Given the description of an element on the screen output the (x, y) to click on. 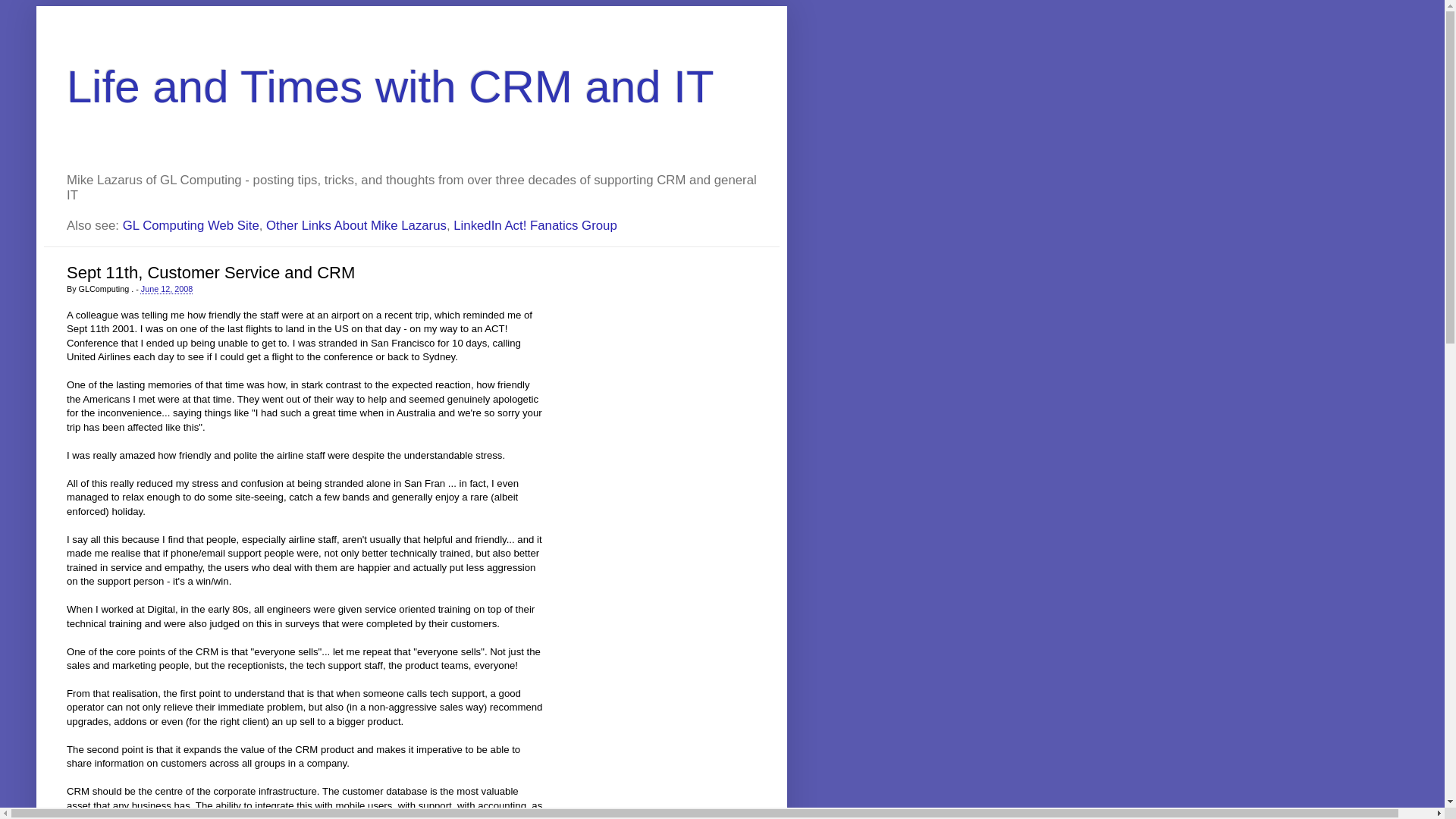
GL Computing Web Site Element type: text (190, 225)
June 12, 2008 Element type: text (166, 288)
Other Links About Mike Lazarus Element type: text (356, 225)
LinkedIn Act! Fanatics Group Element type: text (534, 225)
Life and Times with CRM and IT Element type: text (390, 86)
